Given the description of an element on the screen output the (x, y) to click on. 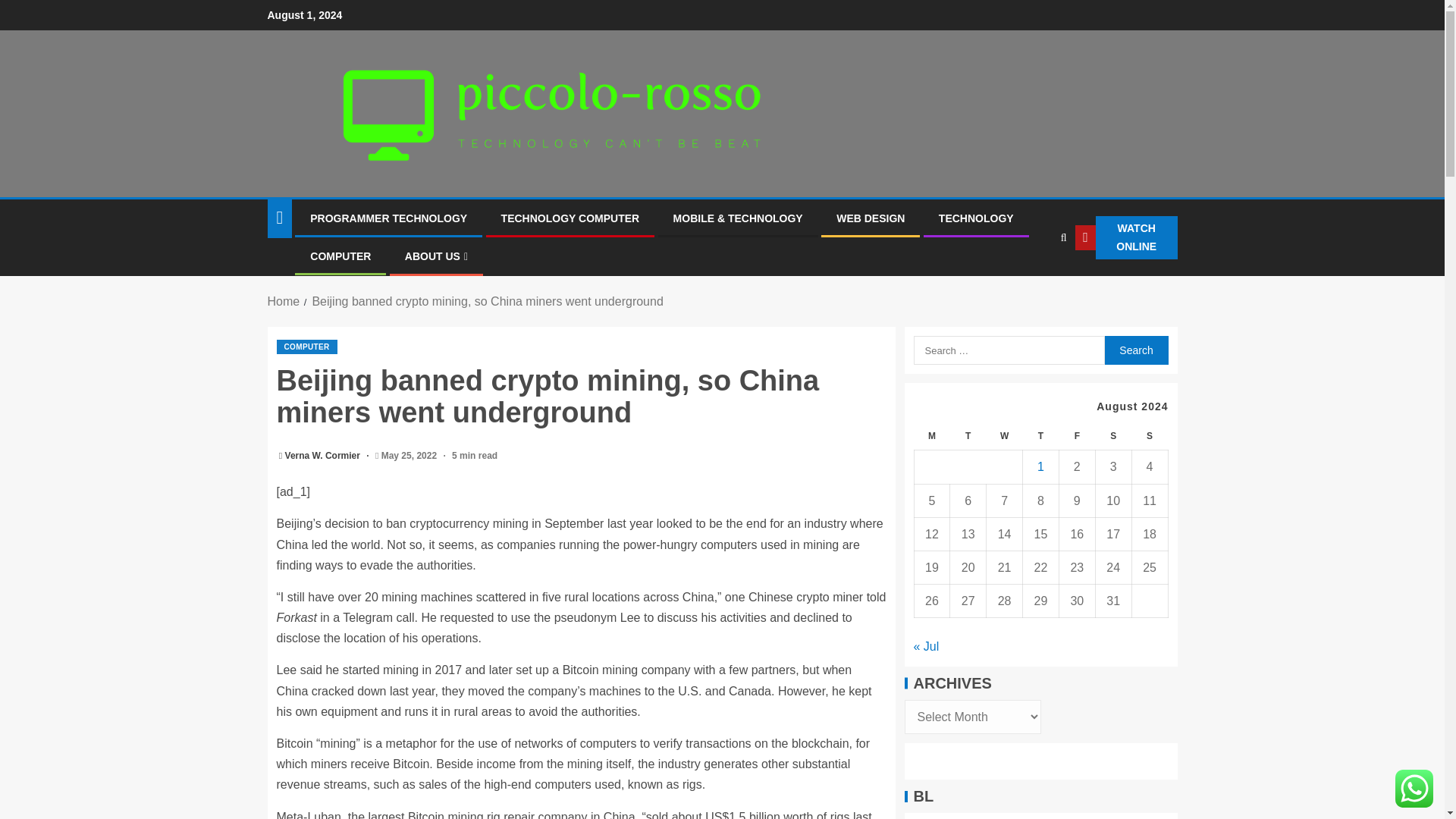
PROGRAMMER TECHNOLOGY (388, 218)
Search (1135, 349)
Wednesday (1005, 436)
COMPUTER (340, 256)
TECHNOLOGY COMPUTER (570, 218)
ABOUT US (435, 256)
Verna W. Cormier (323, 455)
TECHNOLOGY (976, 218)
Search (1135, 349)
COMPUTER (306, 346)
Tuesday (968, 436)
Monday (932, 436)
Thursday (1041, 436)
Home (282, 300)
